Given the description of an element on the screen output the (x, y) to click on. 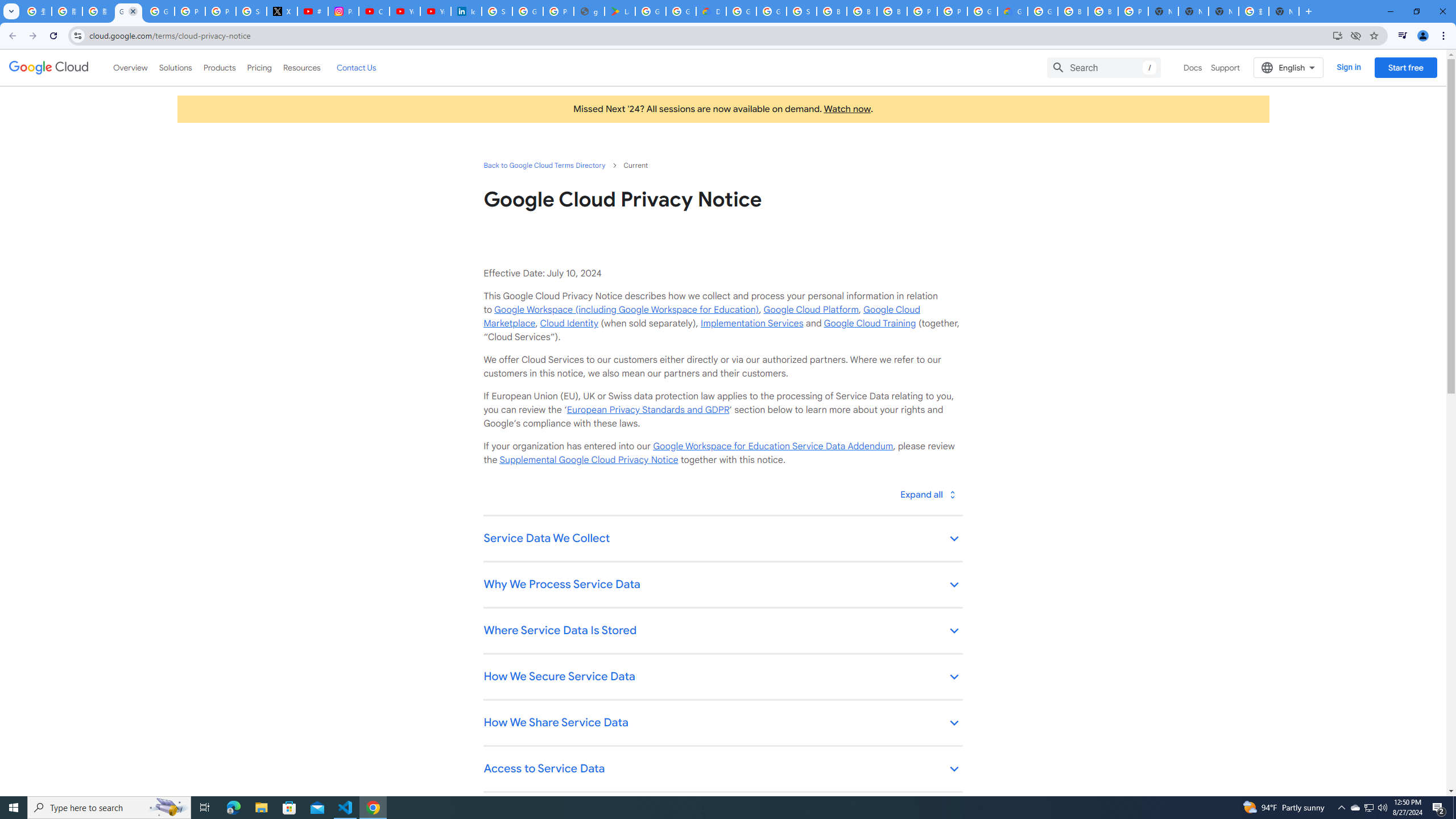
Start free (1405, 67)
Browse Chrome as a guest - Computer - Google Chrome Help (892, 11)
Toggle all (927, 493)
Service Data We Collect keyboard_arrow_down (722, 539)
Products (218, 67)
Why We Process Service Data keyboard_arrow_down (722, 585)
Install Google Cloud (1336, 35)
Browse Chrome as a guest - Computer - Google Chrome Help (830, 11)
#nbabasketballhighlights - YouTube (312, 11)
Pricing (259, 67)
